Given the description of an element on the screen output the (x, y) to click on. 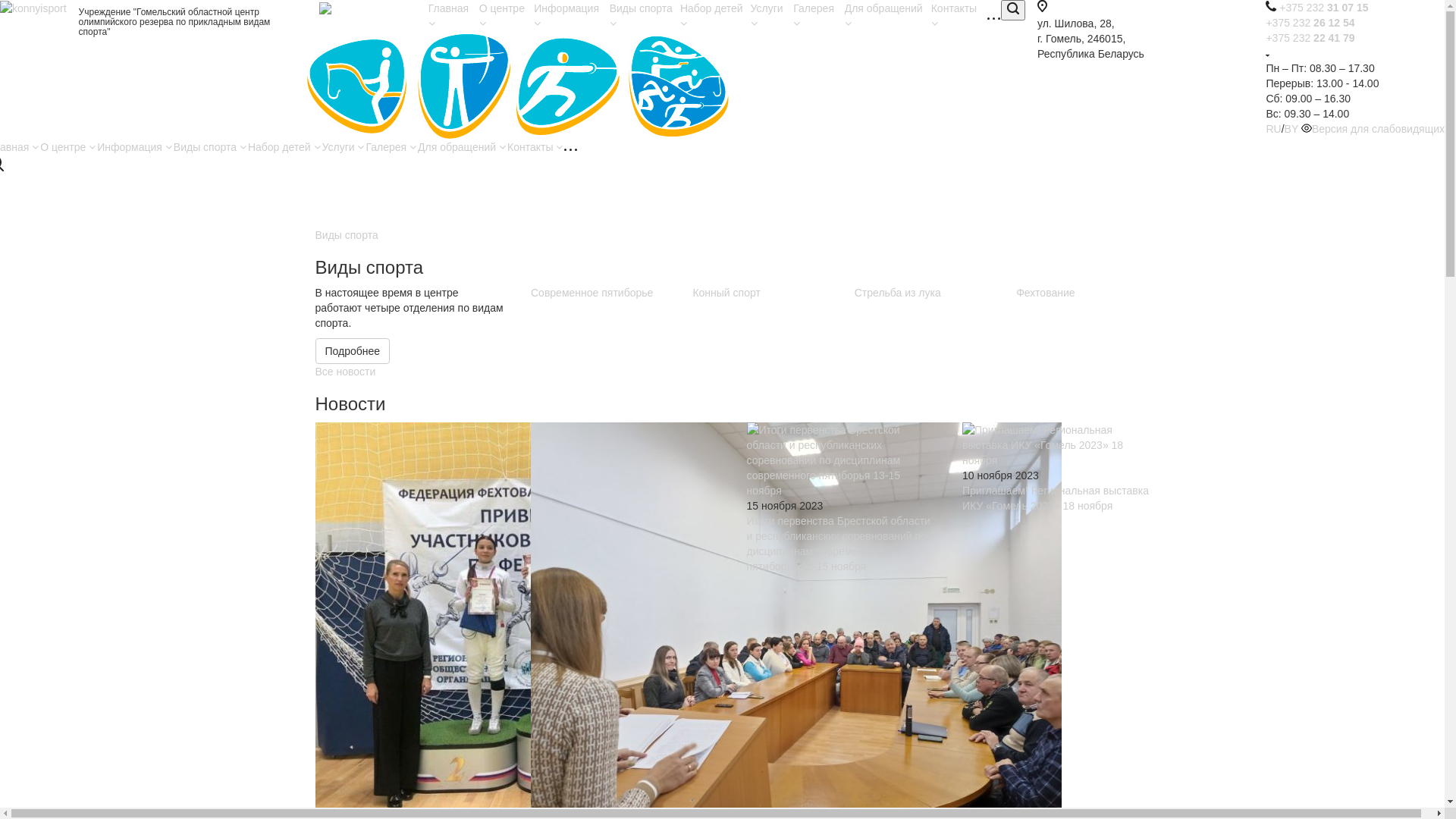
konnyisport Element type: hover (517, 84)
RU Element type: text (1272, 128)
BY Element type: text (1291, 128)
konnyisport Element type: hover (33, 7)
+375 232 22 41 79 Element type: text (1309, 37)
+375 232 31 07 15 Element type: text (1323, 7)
+375 232 26 12 54 Element type: text (1309, 22)
